Given the description of an element on the screen output the (x, y) to click on. 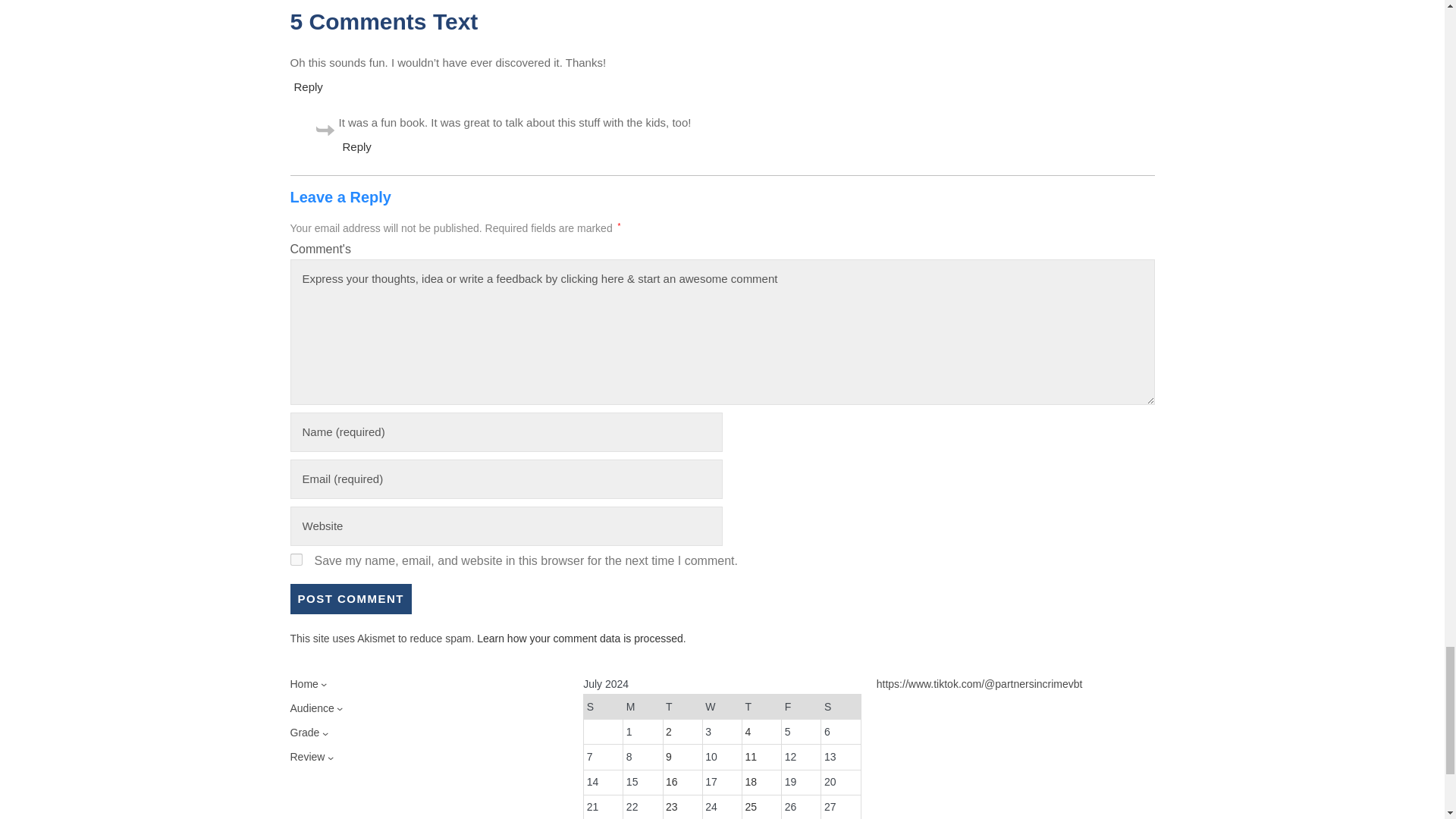
Post Comment (350, 598)
Tuesday (681, 706)
yes (295, 559)
Saturday (840, 706)
Friday (801, 706)
Thursday (760, 706)
Sunday (603, 706)
Monday (642, 706)
Wednesday (721, 706)
